Given the description of an element on the screen output the (x, y) to click on. 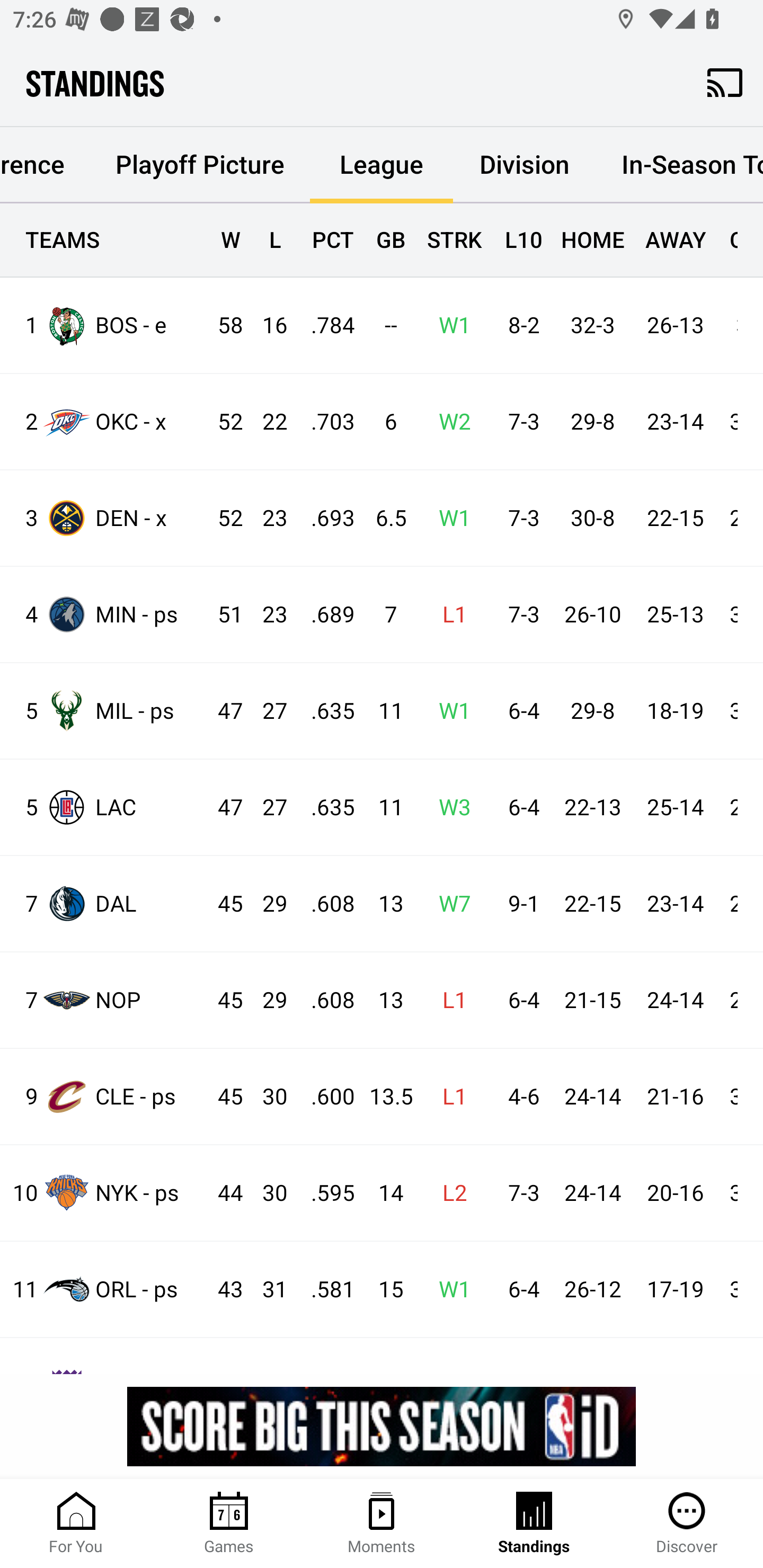
Cast. Disconnected (724, 82)
Conference (45, 165)
Playoff Picture (199, 165)
Division (524, 165)
In-Season Tournament (679, 165)
1 BOS - e (104, 325)
16 (265, 324)
.784 (323, 324)
-- (382, 324)
W1 (449, 324)
8-2 (518, 324)
32-3 (592, 324)
26-13 (675, 324)
2 OKC - x (104, 421)
22 (265, 422)
.703 (323, 422)
6 (382, 422)
W2 (449, 422)
7-3 (518, 422)
29-8 (592, 422)
23-14 (675, 422)
3 DEN - x (104, 518)
23 (265, 517)
.693 (323, 517)
6.5 (382, 517)
W1 (449, 517)
7-3 (518, 517)
30-8 (592, 517)
22-15 (675, 517)
4 MIN - ps (104, 613)
23 (265, 615)
.689 (323, 615)
7 (382, 615)
L1 (449, 615)
7-3 (518, 615)
26-10 (592, 615)
25-13 (675, 615)
5 MIL - ps (104, 710)
27 (265, 710)
.635 (323, 710)
11 (382, 710)
W1 (449, 710)
6-4 (518, 710)
29-8 (592, 710)
18-19 (675, 710)
5 LAC (104, 806)
27 (265, 807)
.635 (323, 807)
11 (382, 807)
W3 (449, 807)
6-4 (518, 807)
22-13 (592, 807)
25-14 (675, 807)
7 DAL (104, 903)
29 (265, 903)
.608 (323, 903)
13 (382, 903)
W7 (449, 903)
9-1 (518, 903)
22-15 (592, 903)
23-14 (675, 903)
7 NOP (104, 999)
29 (265, 1000)
.608 (323, 1000)
13 (382, 1000)
L1 (449, 1000)
6-4 (518, 1000)
21-15 (592, 1000)
24-14 (675, 1000)
9 CLE - ps (104, 1096)
30 (265, 1096)
.600 (323, 1096)
13.5 (382, 1096)
L1 (449, 1096)
4-6 (518, 1096)
24-14 (592, 1096)
21-16 (675, 1096)
10 NYK - ps (104, 1192)
30 (265, 1192)
.595 (323, 1192)
14 (382, 1192)
L2 (449, 1192)
7-3 (518, 1192)
24-14 (592, 1192)
20-16 (675, 1192)
11 ORL - ps (104, 1289)
31 (265, 1289)
.581 (323, 1289)
15 (382, 1289)
W1 (449, 1289)
6-4 (518, 1289)
26-12 (592, 1289)
17-19 (675, 1289)
g5nqqygr7owph (381, 1426)
For You (76, 1523)
Games (228, 1523)
Moments (381, 1523)
Discover (686, 1523)
